Given the description of an element on the screen output the (x, y) to click on. 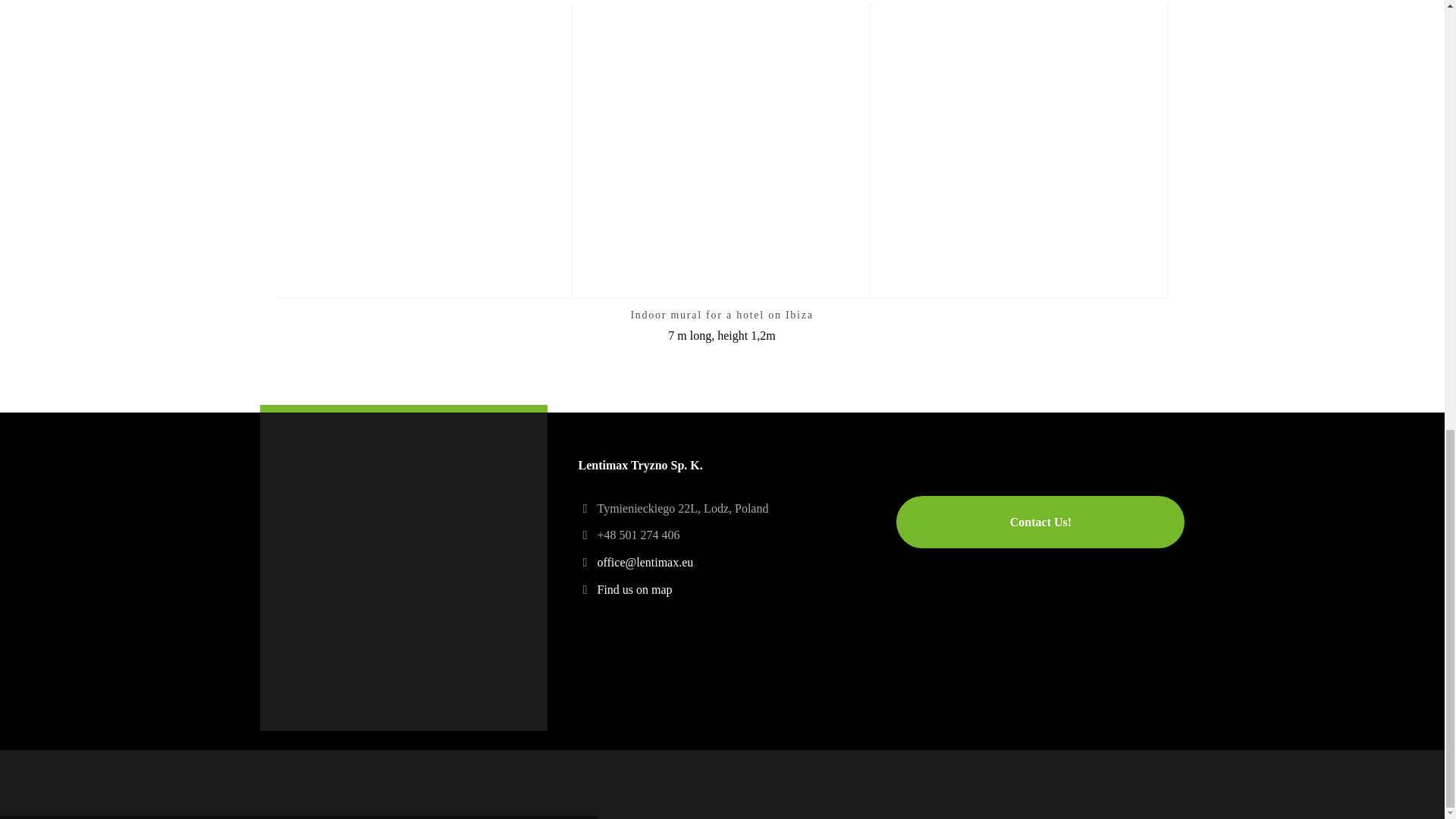
Contact Us! (1040, 522)
Find us on map (633, 589)
